Given the description of an element on the screen output the (x, y) to click on. 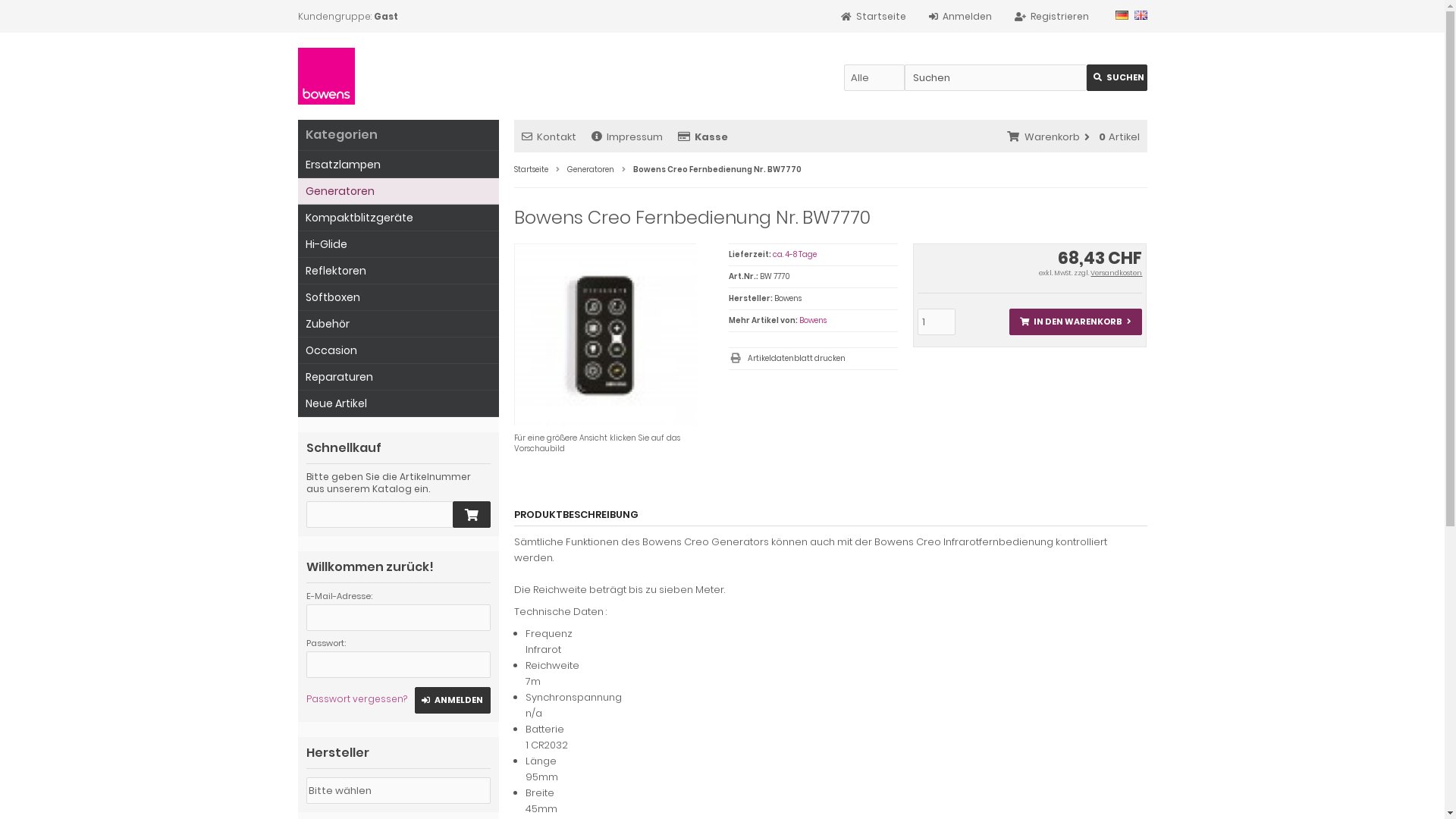
Artikeldatenblatt drucken Element type: text (812, 359)
Registrieren Element type: text (1051, 15)
Reflektoren Element type: text (397, 270)
Generatoren Element type: text (397, 191)
Startseite Element type: text (531, 169)
ca. 4-8 Tage Element type: text (794, 254)
Bowens Creo Fernbedienung Nr. BW7770 Element type: hover (536, 266)
Generatoren Element type: text (590, 169)
Impressum Element type: text (626, 136)
Neue Artikel Element type: text (397, 403)
Kasse Element type: text (702, 136)
English Element type: hover (1140, 14)
Softboxen Element type: text (397, 297)
Kontakt Element type: text (548, 136)
Occasion Element type: text (397, 350)
Anmelden Element type: text (959, 15)
Versandkosten Element type: text (1116, 272)
Bowens Element type: text (812, 320)
Reparaturen Element type: text (397, 377)
Deutsch Element type: hover (1120, 14)
Hi-Glide Element type: text (397, 244)
Passwort vergessen? Element type: text (356, 699)
Startseite Element type: text (872, 15)
Ersatzlampen Element type: text (397, 164)
